Given the description of an element on the screen output the (x, y) to click on. 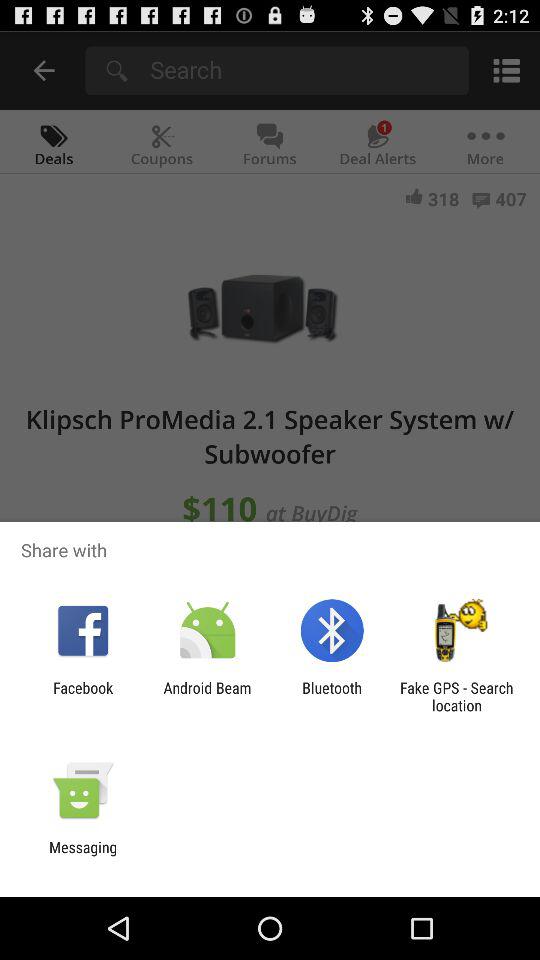
turn on the item to the right of android beam app (331, 696)
